Given the description of an element on the screen output the (x, y) to click on. 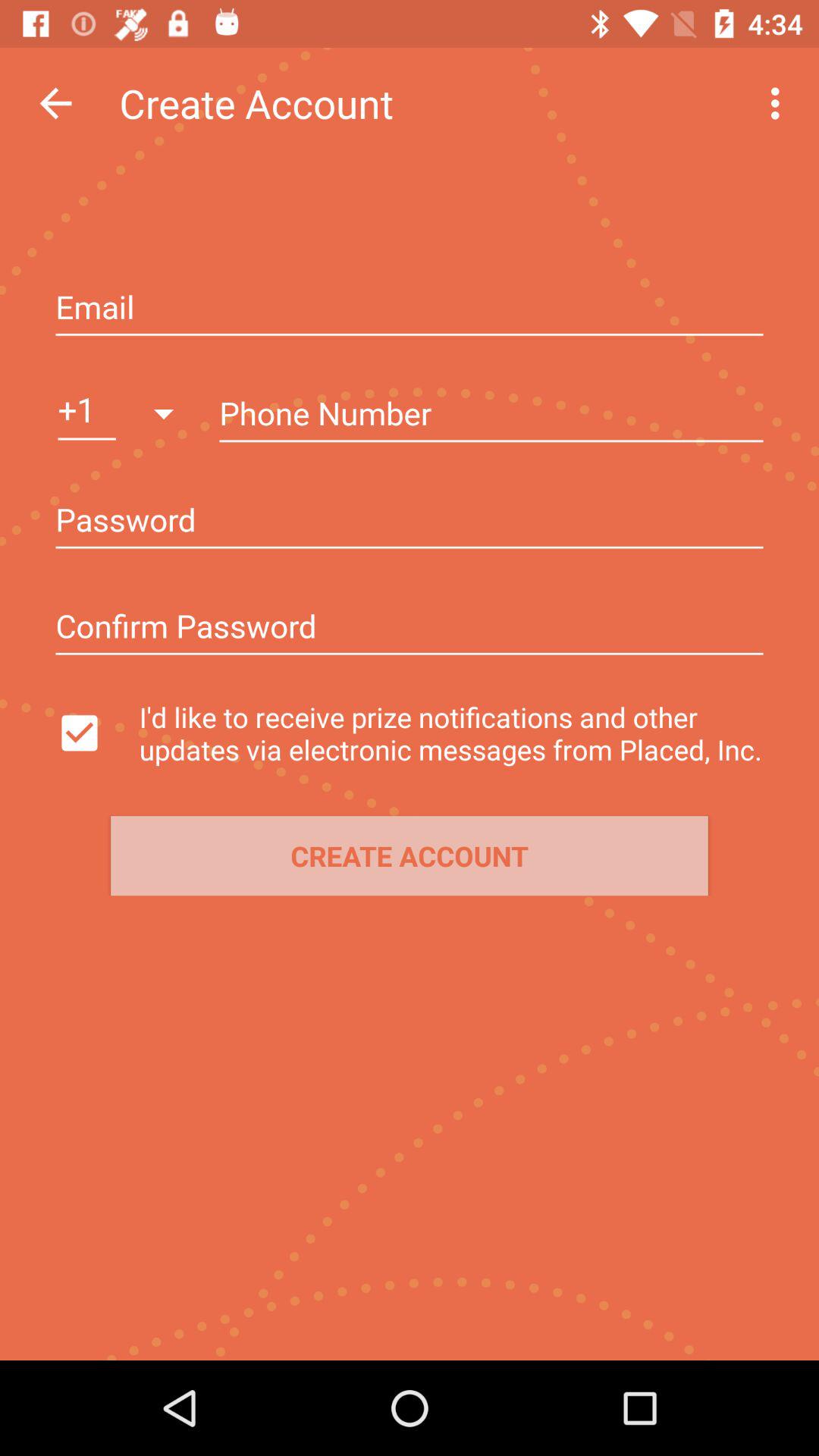
add email (409, 308)
